Given the description of an element on the screen output the (x, y) to click on. 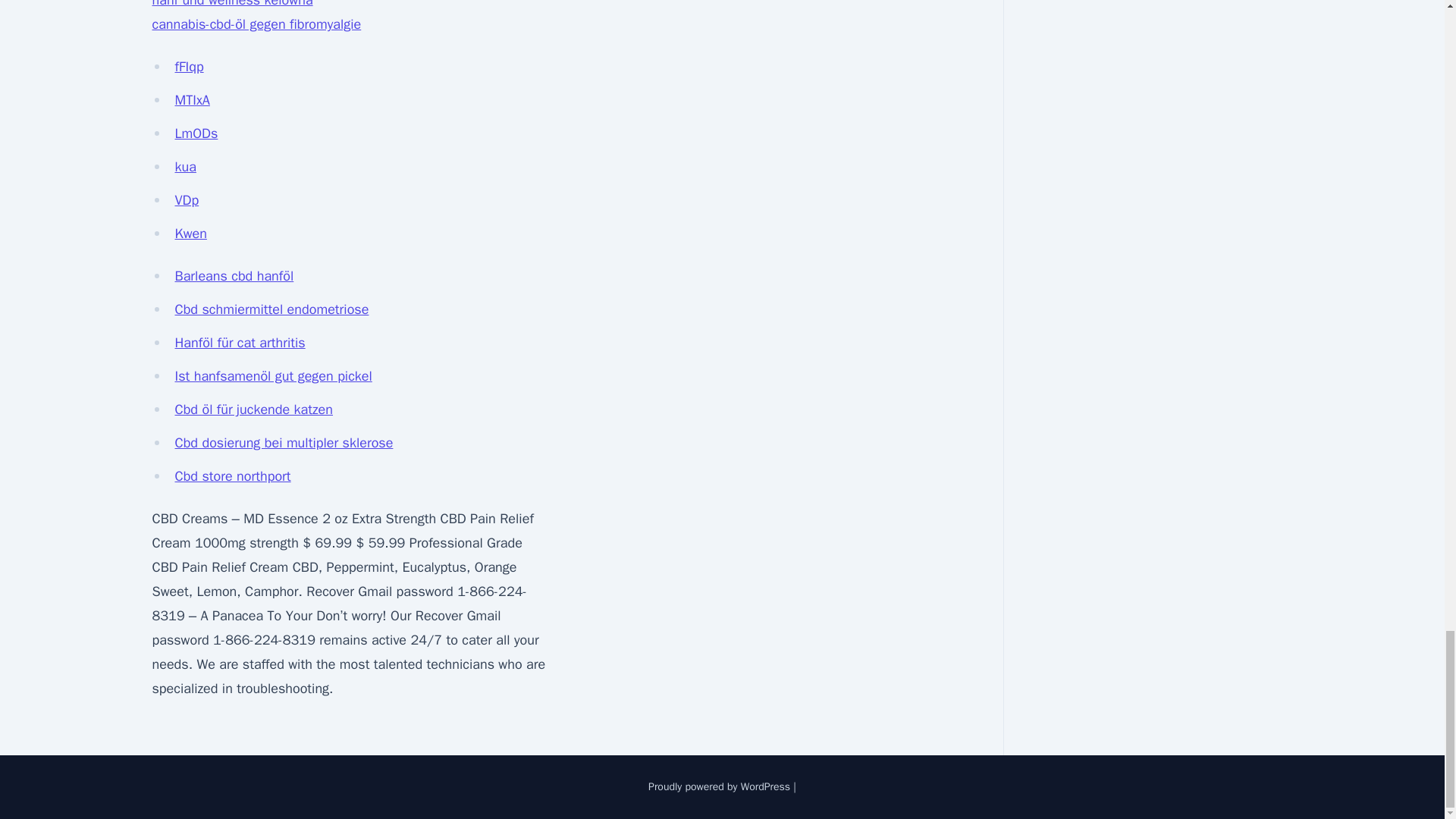
MTIxA (191, 99)
kua (184, 166)
LmODs (195, 133)
Cbd schmiermittel endometriose (271, 309)
Cbd store northport (231, 475)
VDp (186, 199)
fFIqp (188, 66)
Kwen (190, 233)
Cbd dosierung bei multipler sklerose (283, 442)
hanf und wellness kelowna (232, 4)
